Given the description of an element on the screen output the (x, y) to click on. 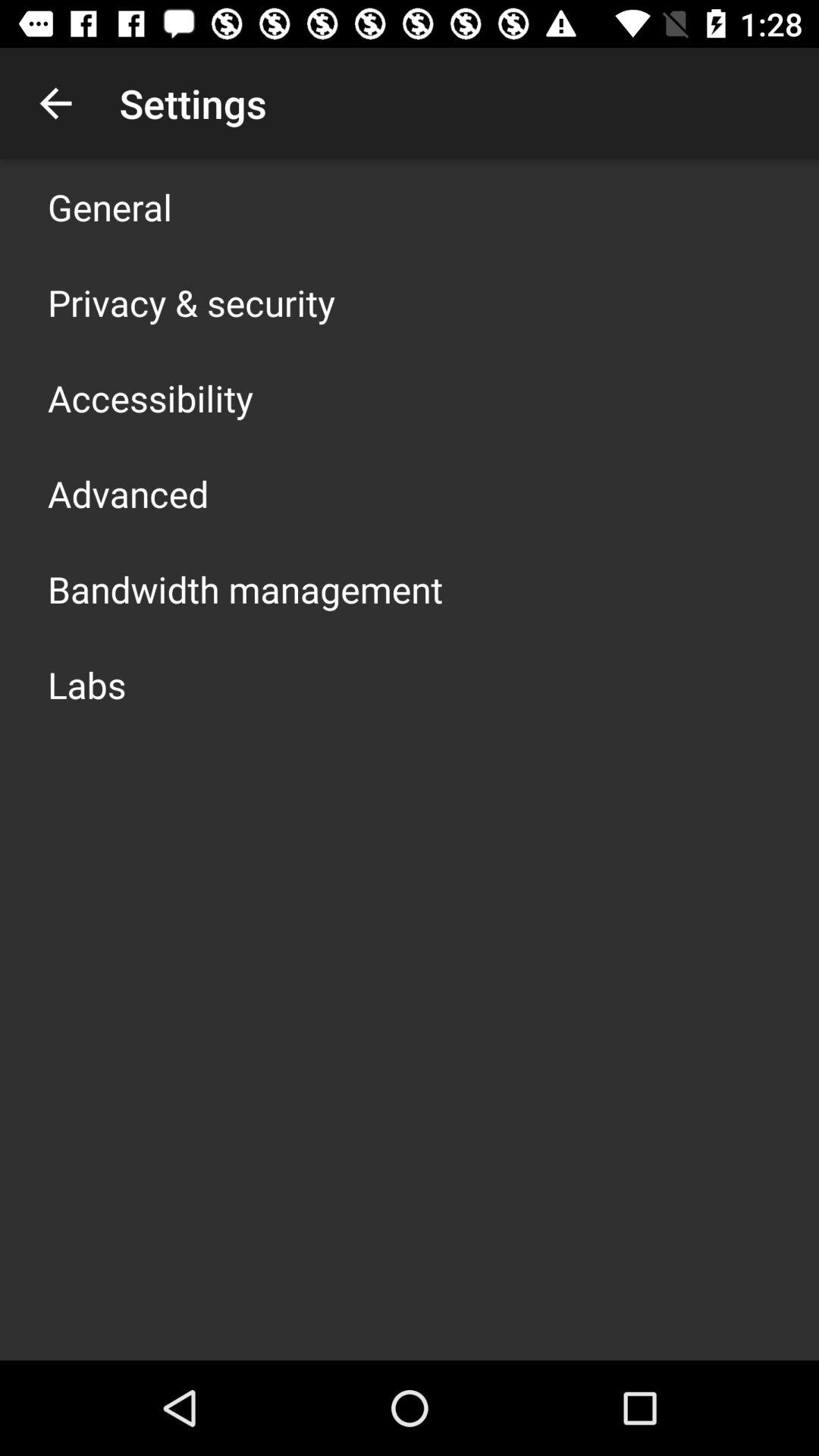
open the app below accessibility icon (127, 493)
